Given the description of an element on the screen output the (x, y) to click on. 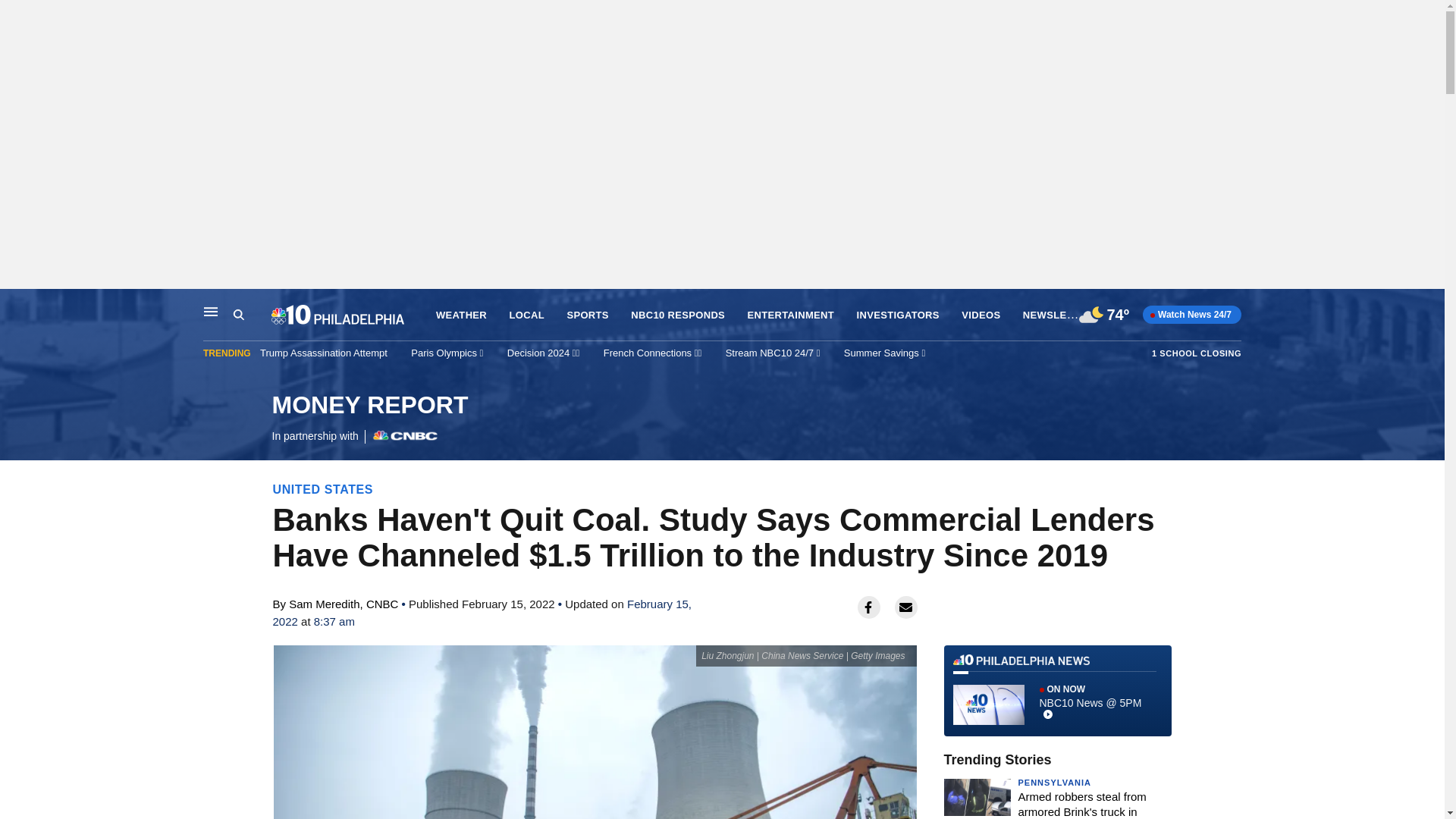
NBC10 RESPONDS (677, 315)
Skip to content (16, 304)
UNITED STATES (323, 489)
INVESTIGATORS (898, 315)
NEWSLETTERS (1061, 314)
Main Navigation (210, 311)
SPORTS (368, 418)
ENTERTAINMENT (587, 315)
Search (791, 315)
VIDEOS (238, 314)
LOCAL (980, 315)
Search (526, 315)
1 SCHOOL CLOSING (252, 314)
Trump Assassination Attempt (1196, 352)
